Given the description of an element on the screen output the (x, y) to click on. 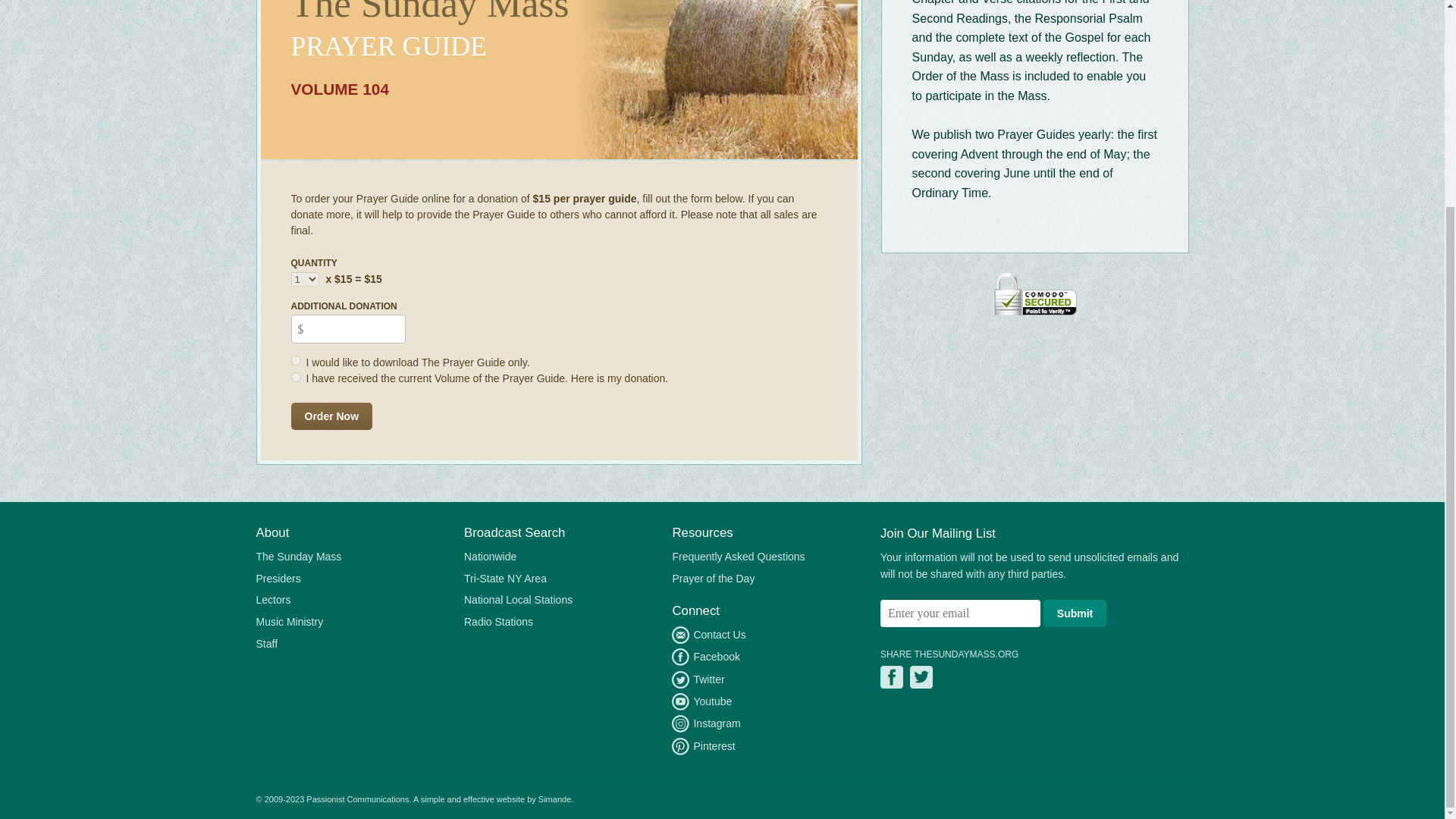
Order Now (331, 415)
Submit (1074, 613)
download (296, 360)
Nationwide (490, 556)
none (296, 377)
Contact Us (708, 634)
Presiders (278, 578)
Youtube (701, 701)
Tri-State NY Area (505, 578)
Pinterest (703, 746)
Twitter (697, 679)
Music Ministry (289, 621)
Prayer of the Day (712, 578)
Simande (554, 798)
Radio Stations (498, 621)
